Given the description of an element on the screen output the (x, y) to click on. 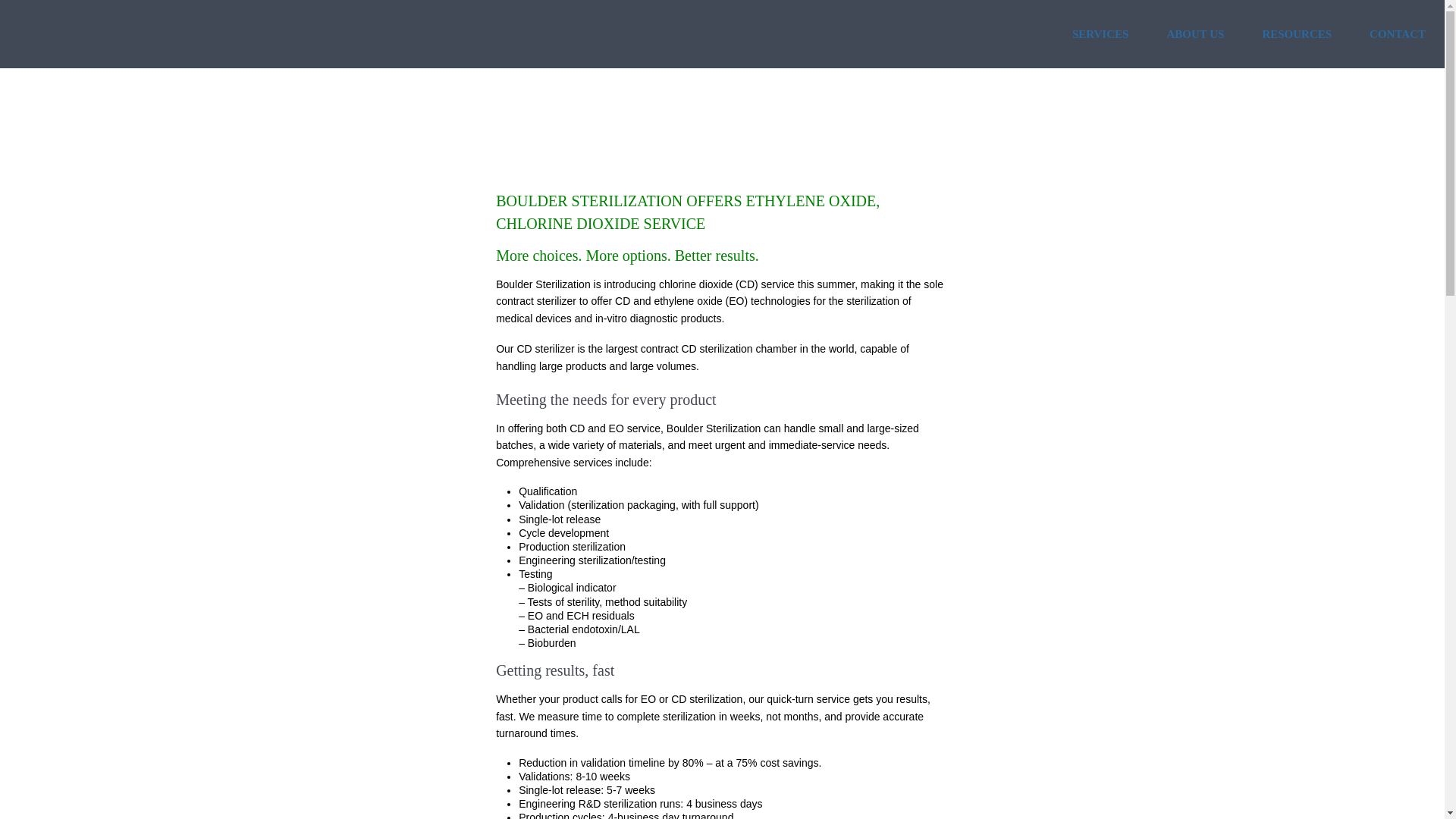
RESOURCES (1297, 33)
ABOUT US (1195, 33)
SERVICES (1100, 33)
